Given the description of an element on the screen output the (x, y) to click on. 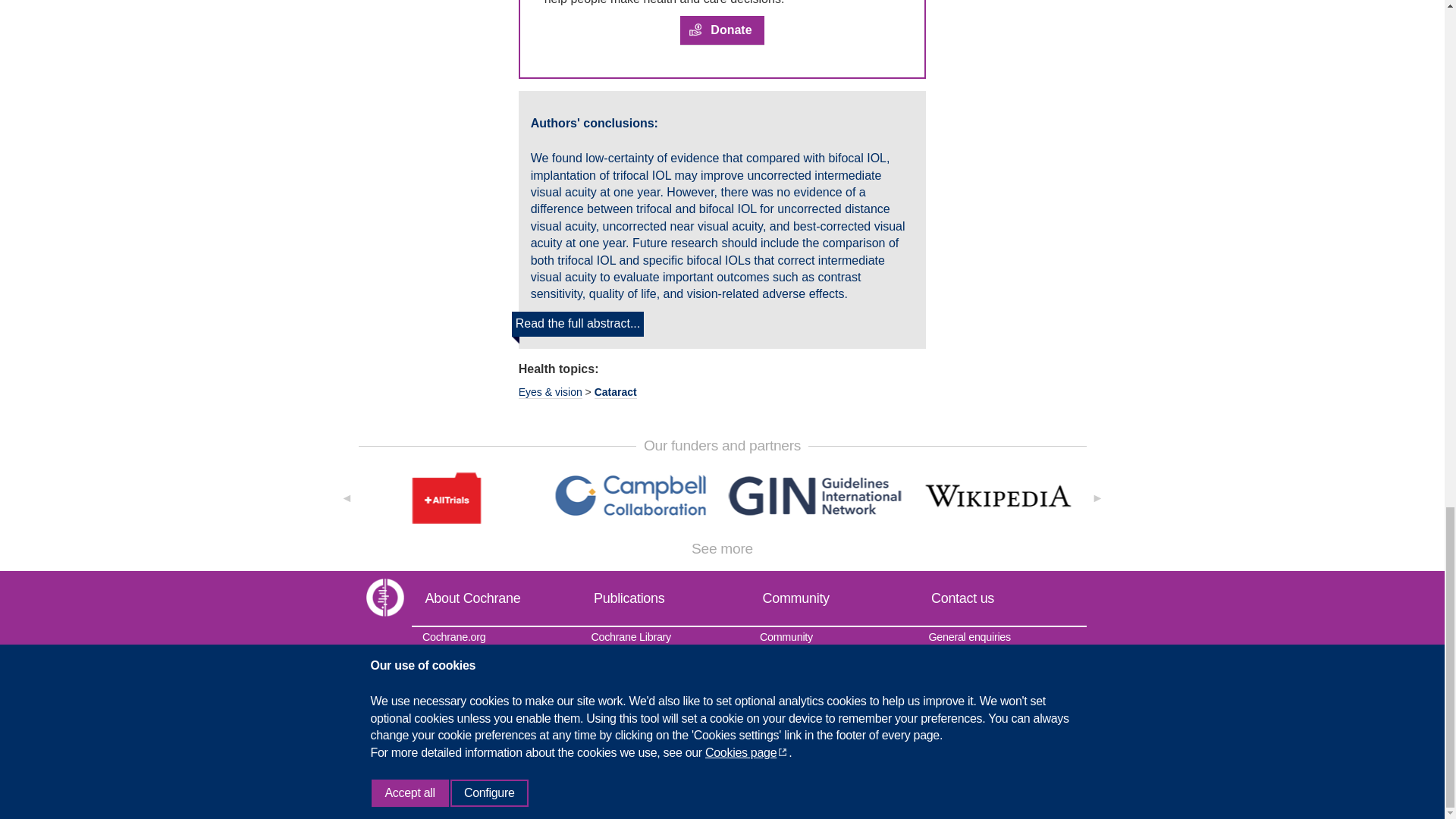
AllTrials (446, 498)
Cataract (615, 391)
Donate (720, 30)
